Given the description of an element on the screen output the (x, y) to click on. 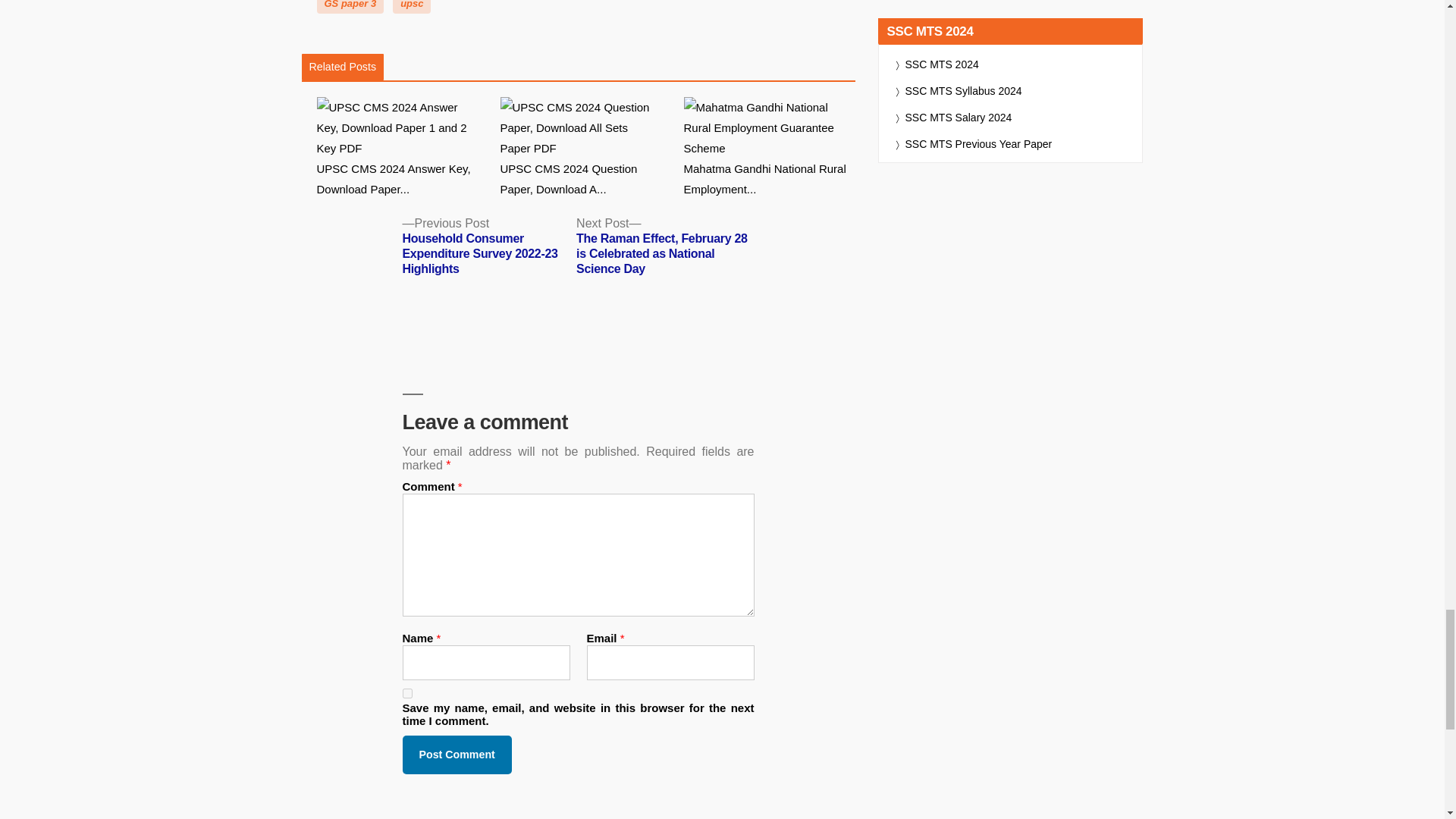
yes (406, 693)
UPSC CMS 2024 Answer Key, Download Paper 1 and 2 Key PDF (402, 148)
Post Comment (456, 754)
UPSC CMS 2024 Question Paper, Download All Sets Paper PDF (585, 148)
Mahatma Gandhi National Rural Employment Guarantee Scheme (770, 148)
